Given the description of an element on the screen output the (x, y) to click on. 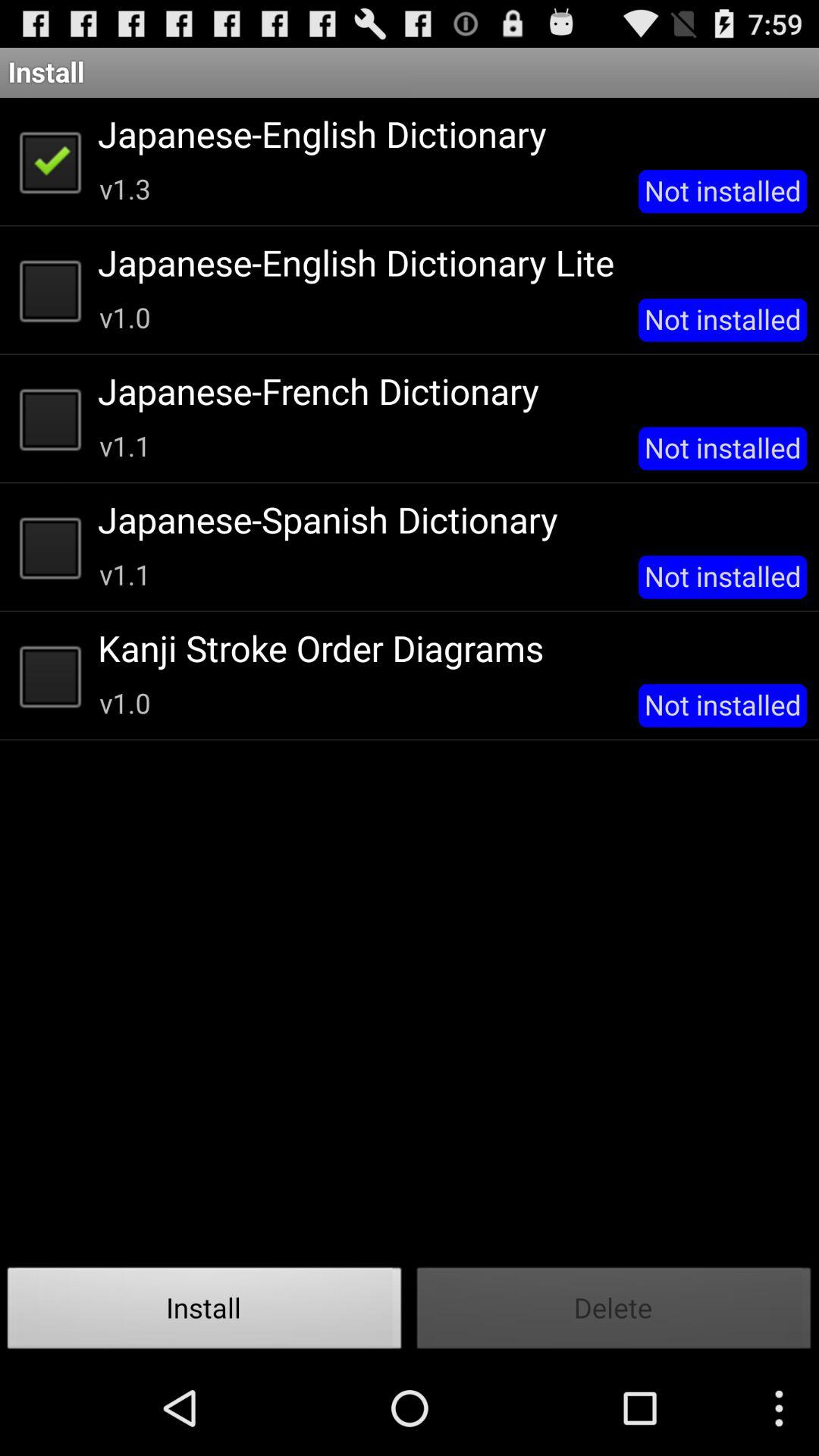
press the app above the v1.0 icon (447, 647)
